Given the description of an element on the screen output the (x, y) to click on. 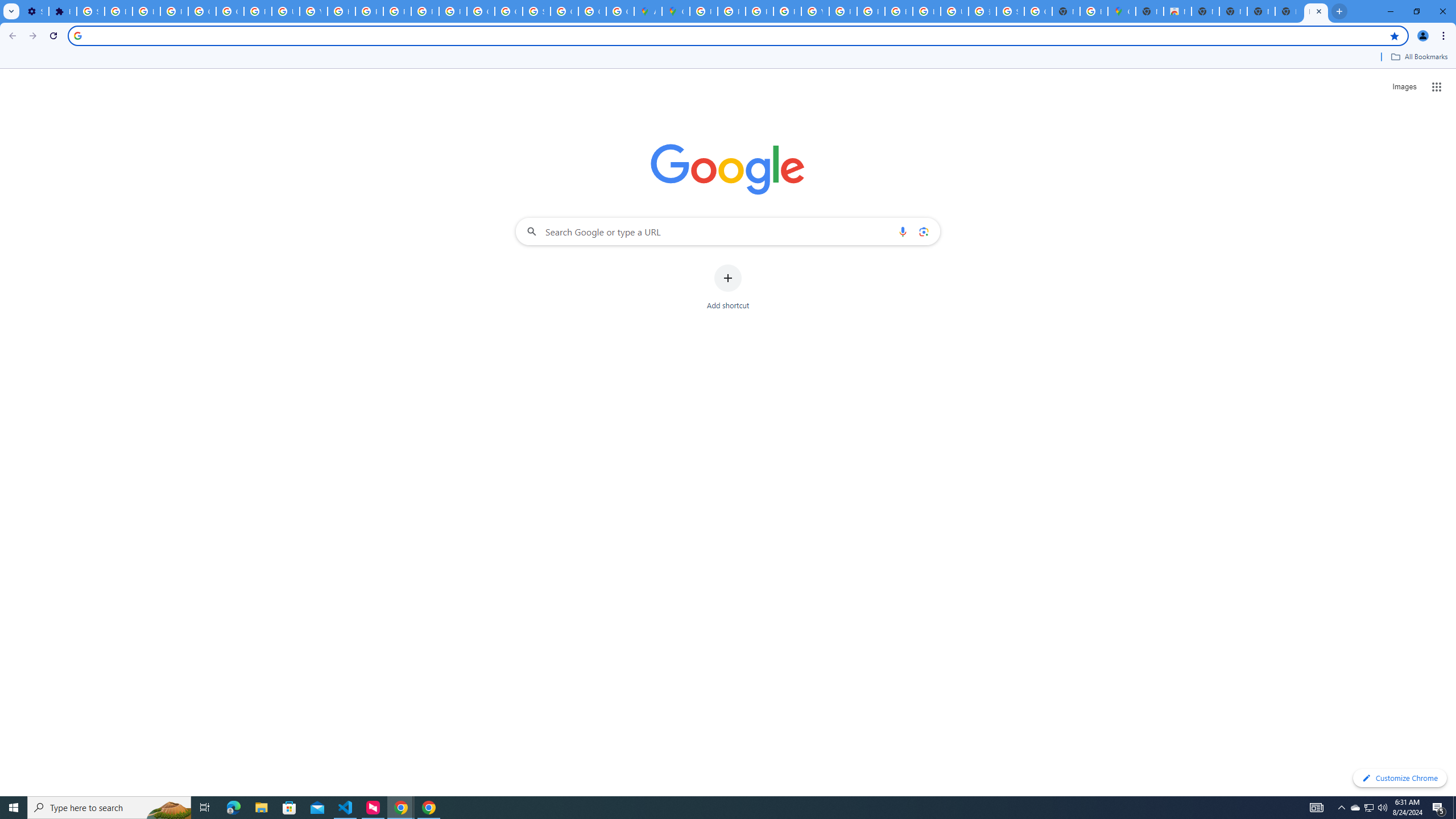
https://scholar.google.com/ (341, 11)
Create your Google Account (620, 11)
Browse Chrome as a guest - Computer - Google Chrome Help (898, 11)
Bookmarks (728, 58)
Search by image (922, 230)
Google Account Help (202, 11)
